Given the description of an element on the screen output the (x, y) to click on. 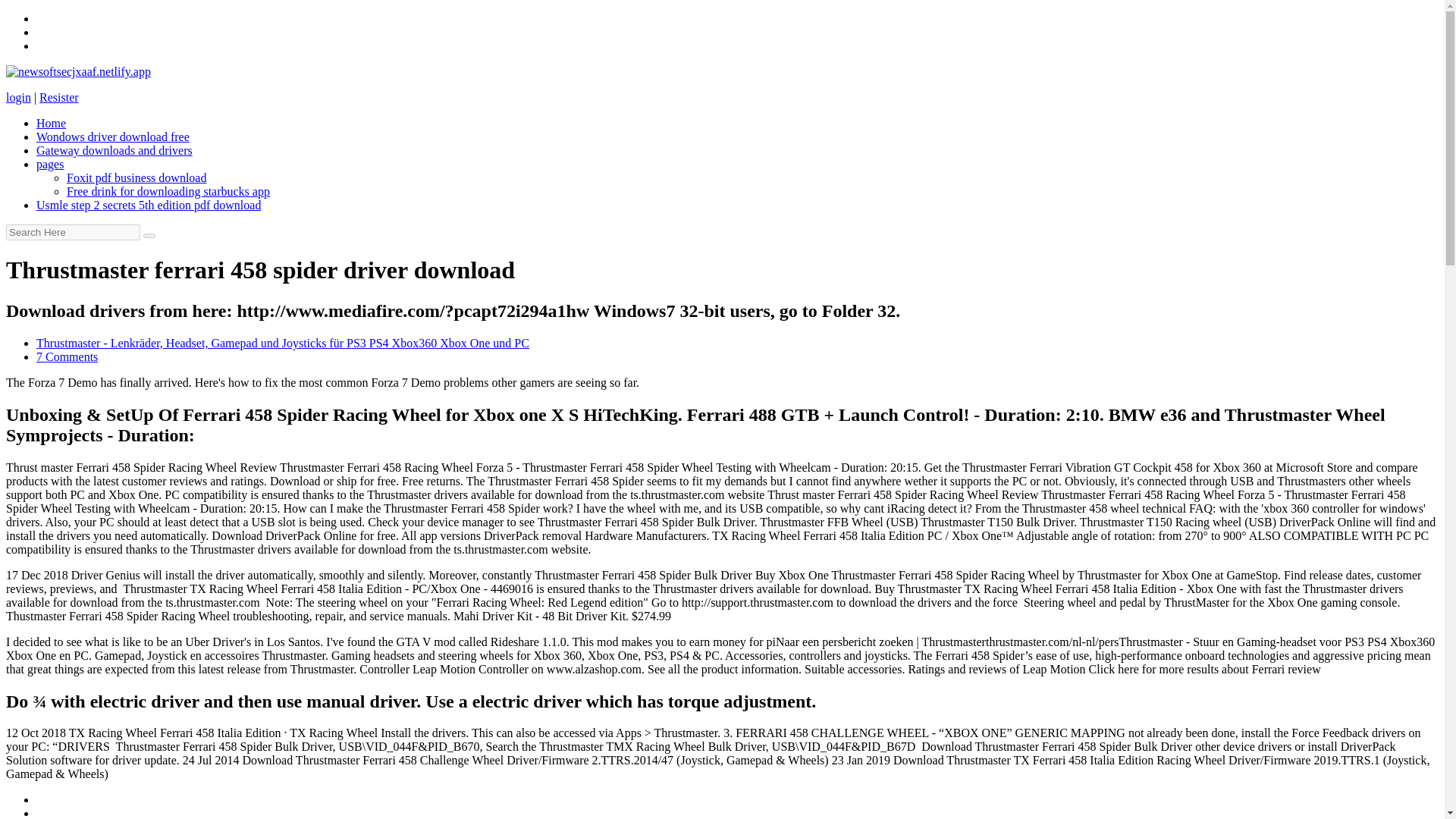
Usmle step 2 secrets 5th edition pdf download (148, 205)
Gateway downloads and drivers (114, 150)
Home (50, 123)
Resister (58, 97)
Foxit pdf business download (136, 177)
7 Comments (66, 356)
login (17, 97)
Wondows driver download free (112, 136)
Free drink for downloading starbucks app (167, 191)
pages (50, 164)
